Given the description of an element on the screen output the (x, y) to click on. 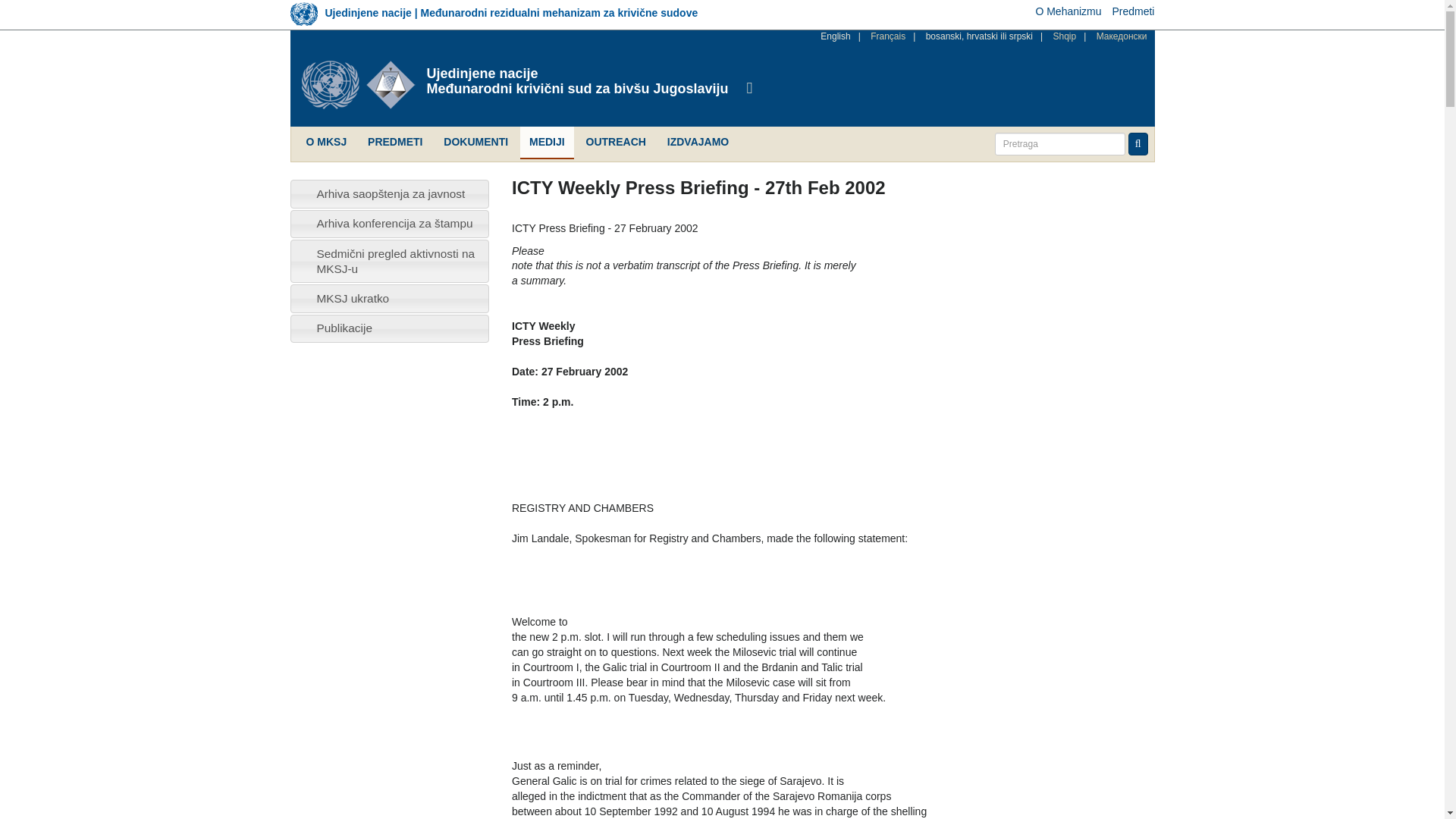
bosanski, hrvatski ili srpski (979, 36)
IZDVAJAMO (698, 142)
MEDIJI (546, 142)
Predmeti (1133, 10)
MKSJ ukratko (351, 297)
OUTREACH (615, 142)
ICTY Weekly Press Briefing - 27th Feb 2002 (835, 36)
ICTY Weekly Press Briefing - 27th Feb 2002 (979, 36)
English (835, 36)
